Given the description of an element on the screen output the (x, y) to click on. 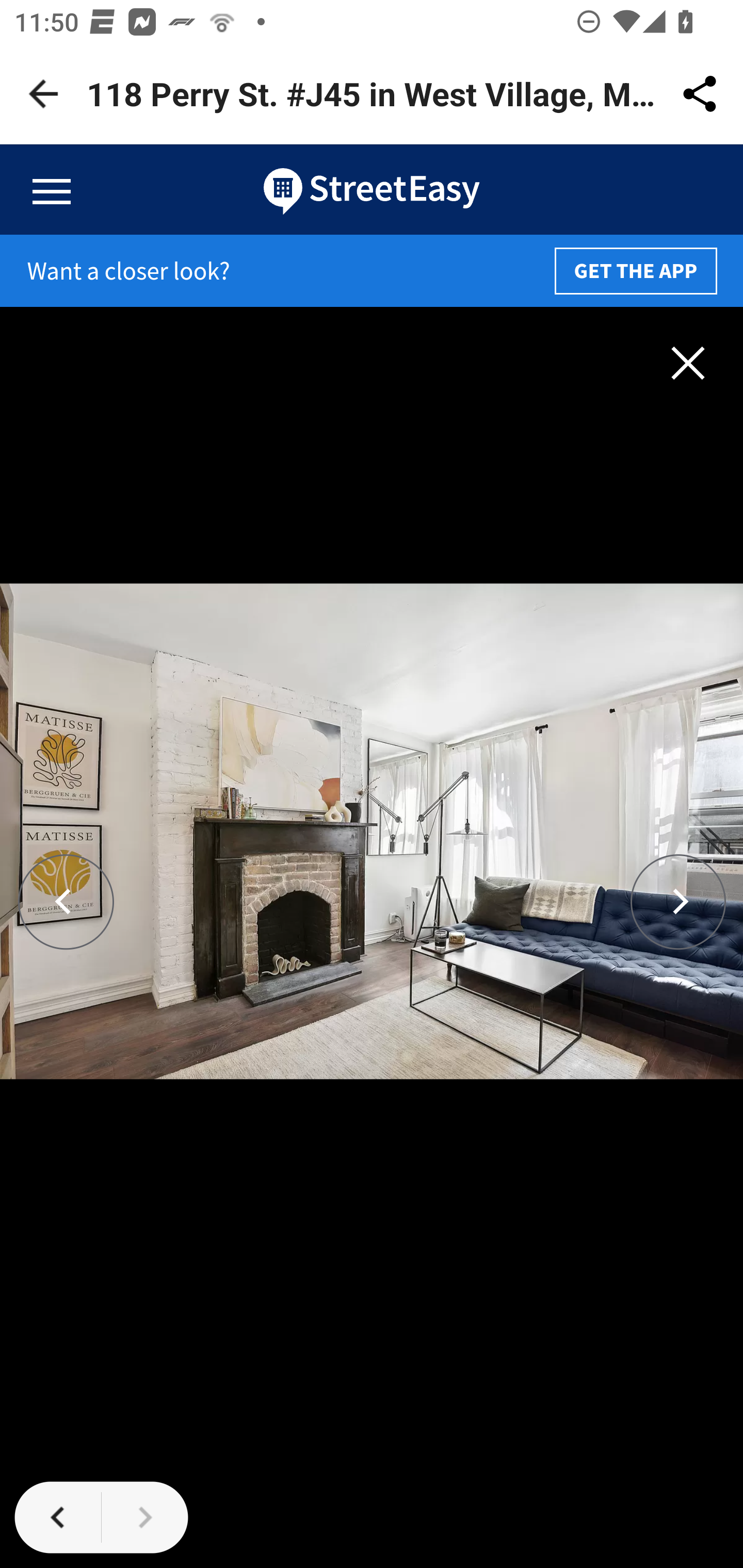
Skip Navigation (371, 190)
Exit full-screen (687, 360)
Previous (66, 901)
Next (677, 901)
